Given the description of an element on the screen output the (x, y) to click on. 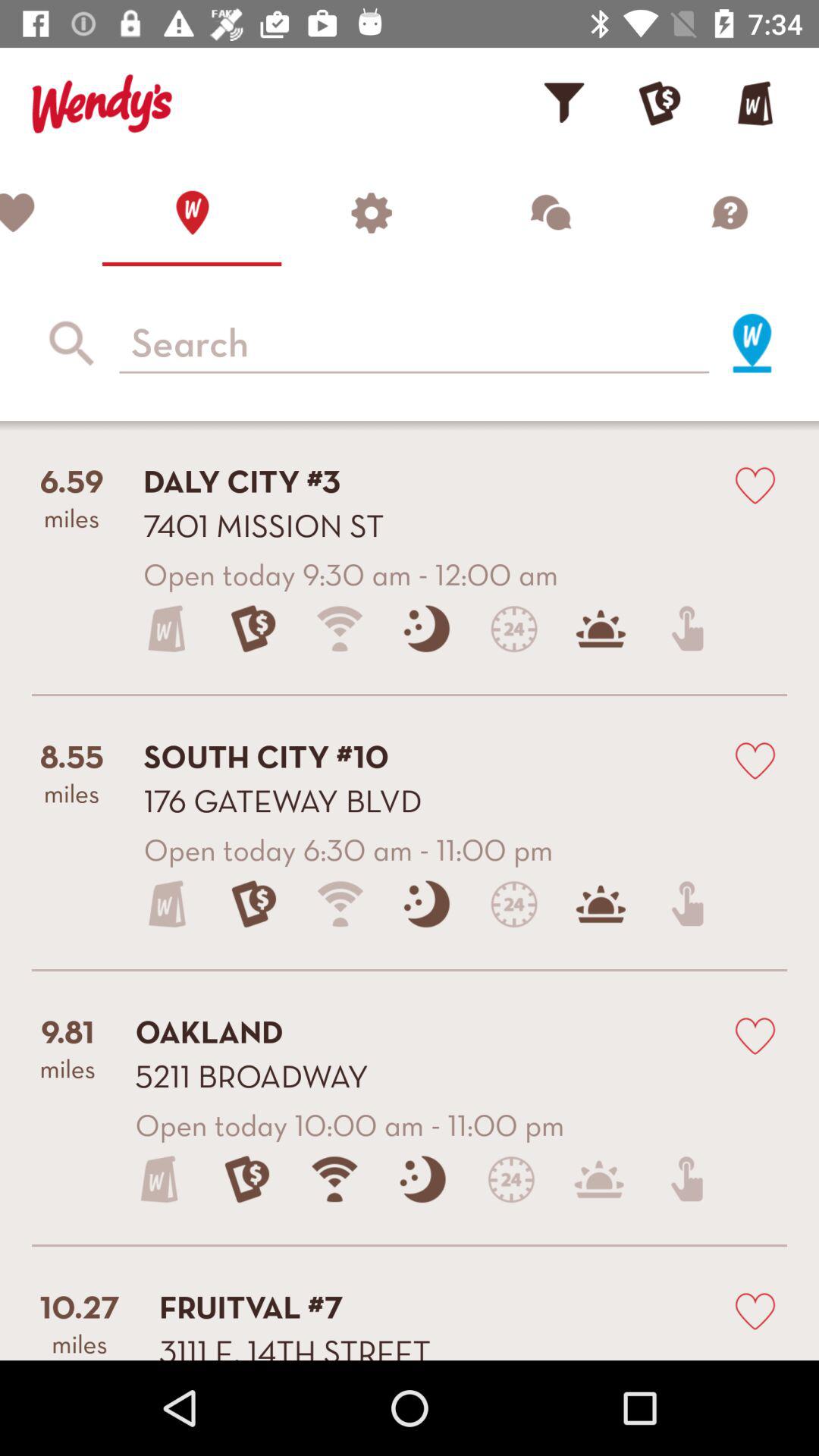
search bar to look up location (414, 343)
